Given the description of an element on the screen output the (x, y) to click on. 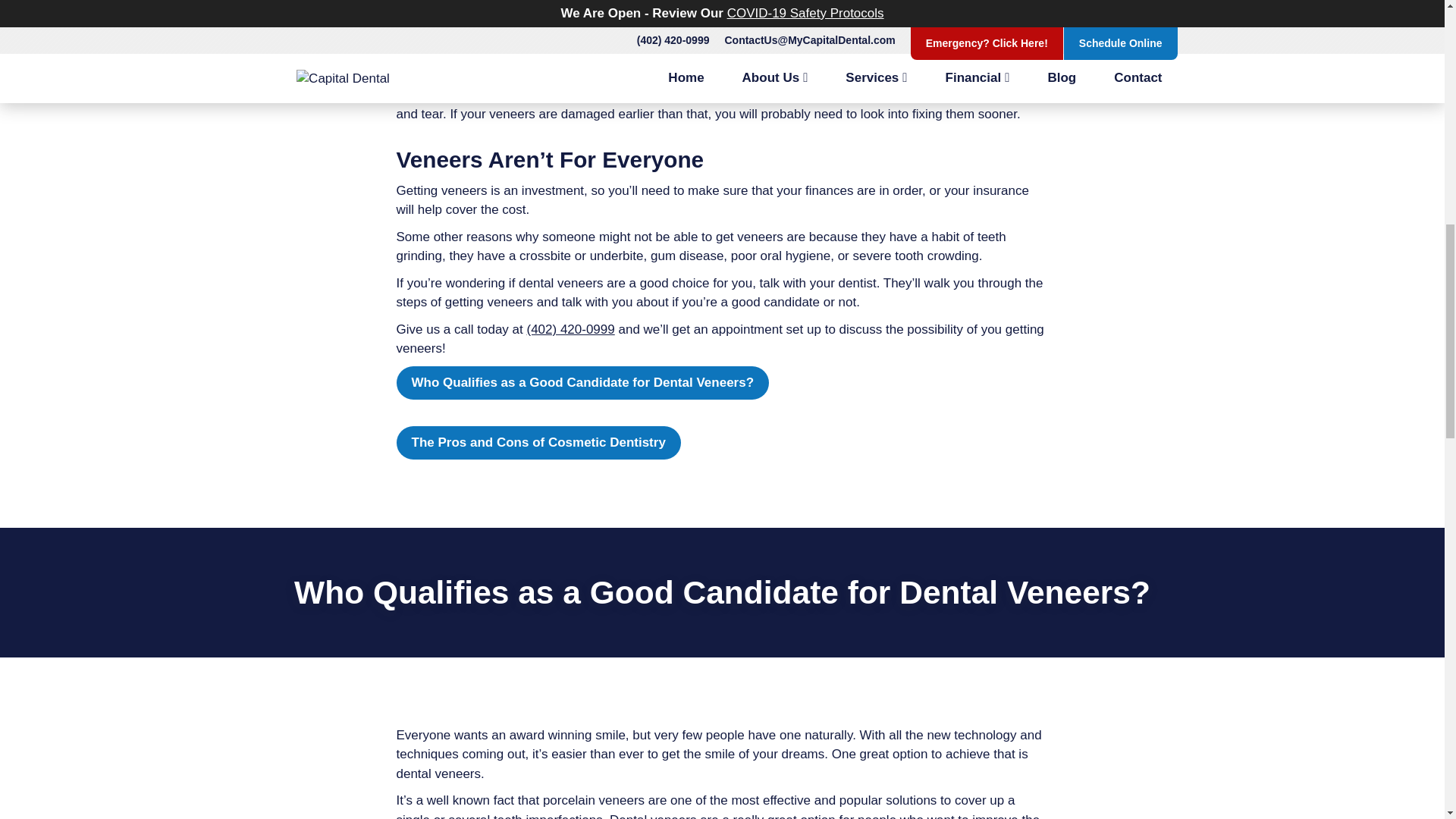
The Pros and Cons of Cosmetic Dentistry (537, 442)
Who Qualifies as a Good Candidate for Dental Veneers? (582, 382)
